Given the description of an element on the screen output the (x, y) to click on. 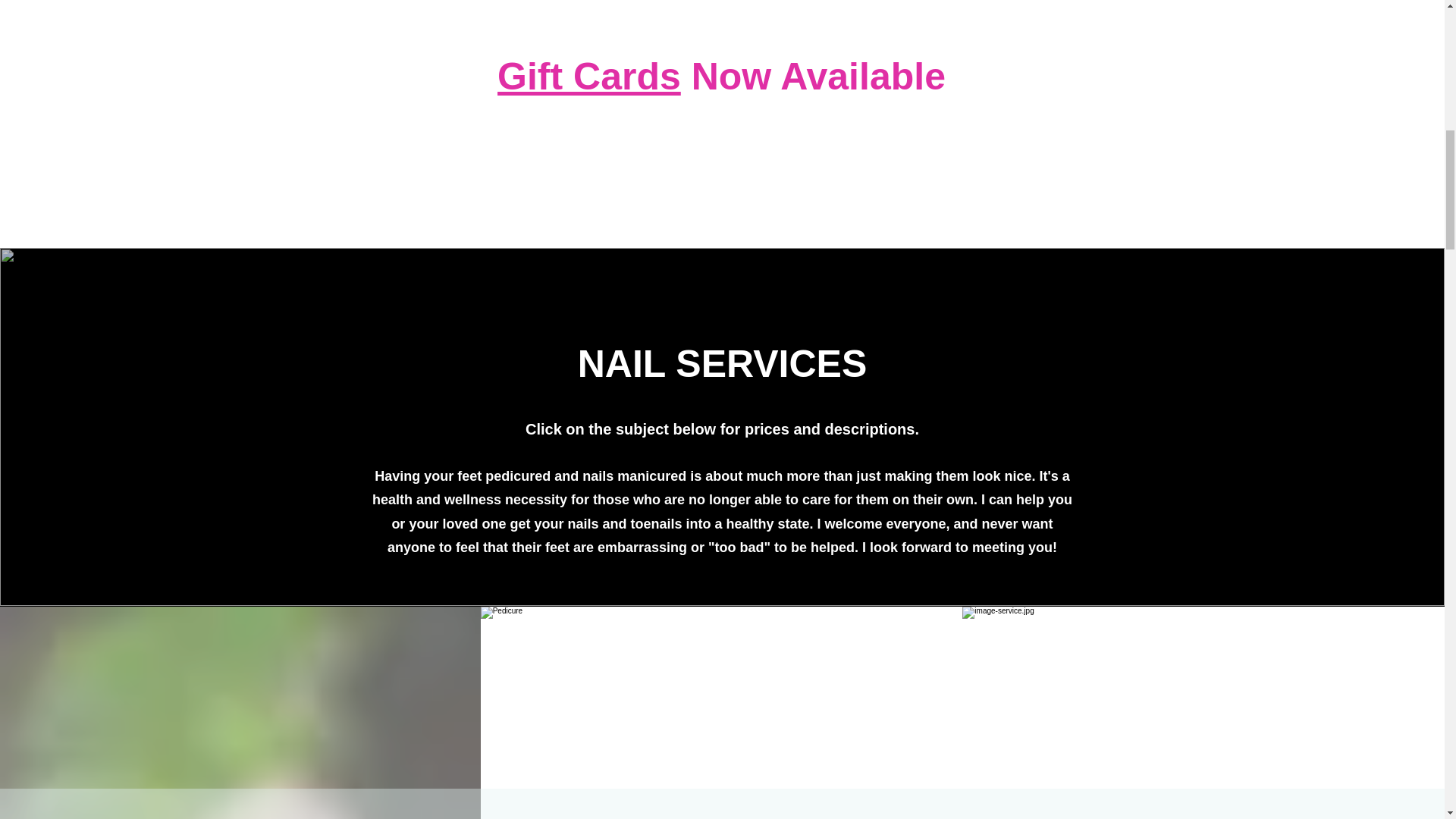
Gift Cards (589, 76)
